Given the description of an element on the screen output the (x, y) to click on. 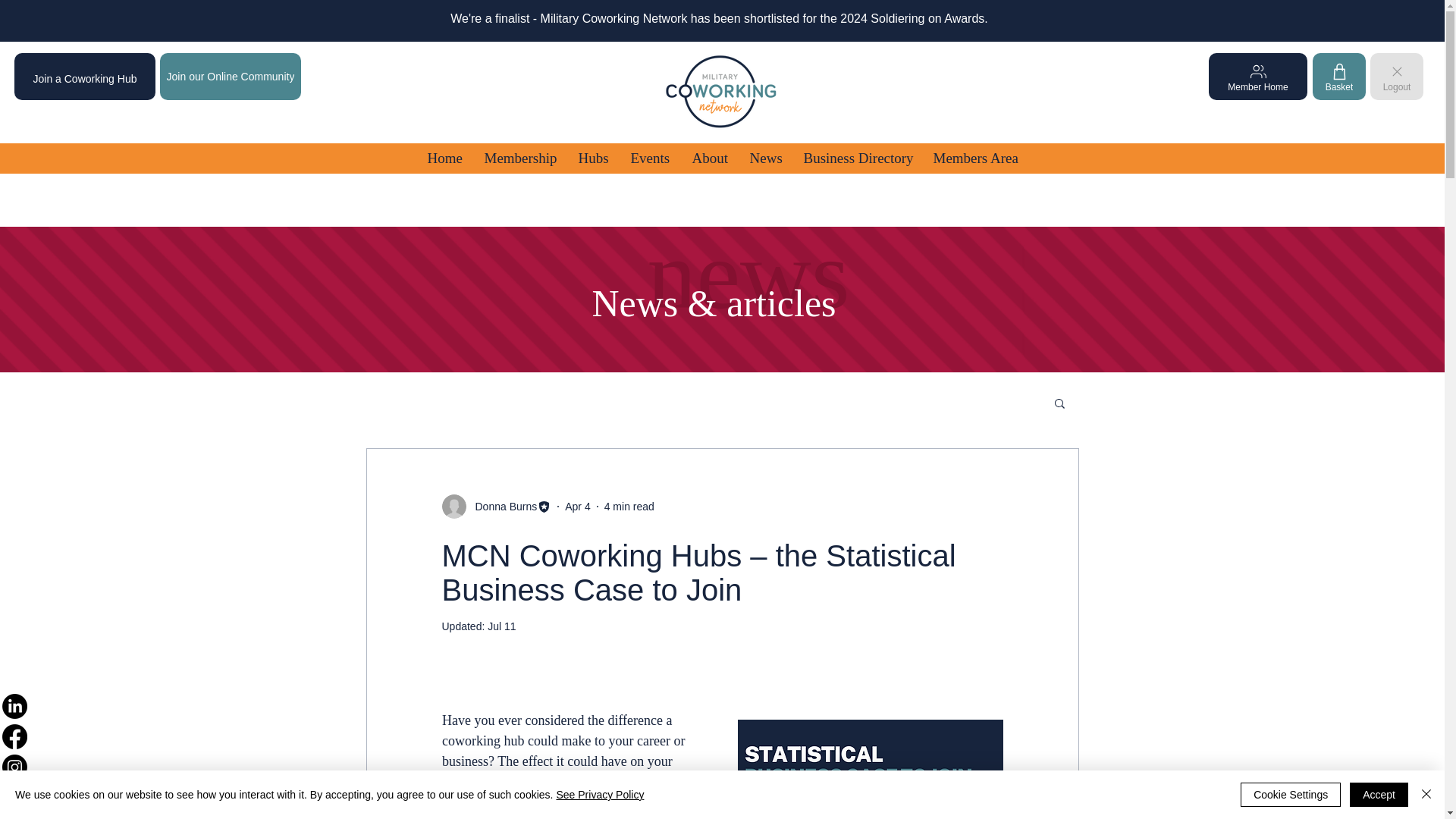
Donna Burns (496, 506)
Logout (1396, 76)
News (765, 157)
Basket (1339, 76)
Business Directory (856, 157)
Join a Coworking Hub (84, 76)
Apr 4 (576, 506)
Membership (520, 157)
Member Home (1257, 76)
Hubs (593, 157)
